Given the description of an element on the screen output the (x, y) to click on. 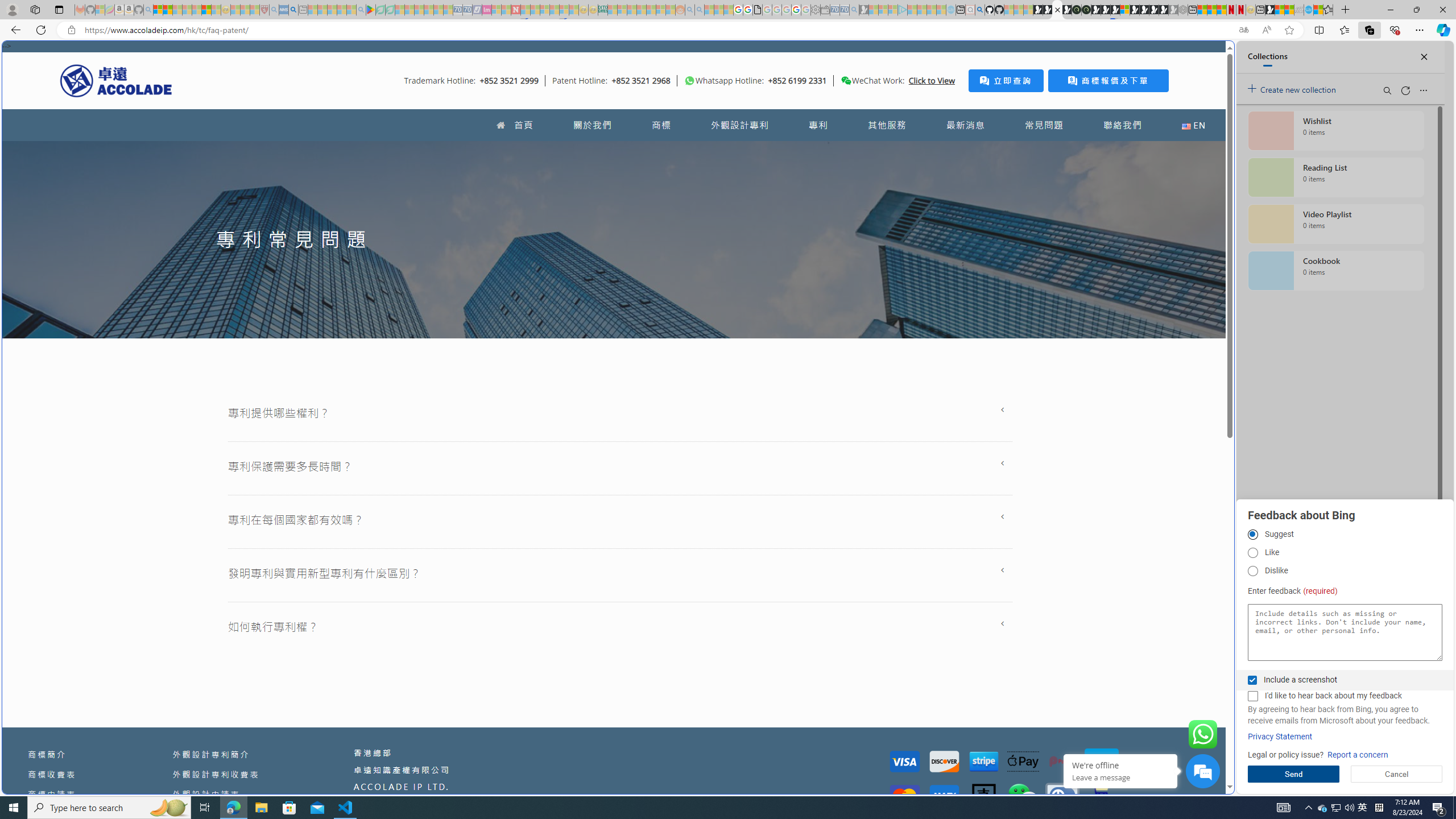
utah sues federal government - Search (292, 9)
Suggest (1252, 534)
github - Search (979, 9)
Local - MSN - Sleeping (254, 9)
